Given the description of an element on the screen output the (x, y) to click on. 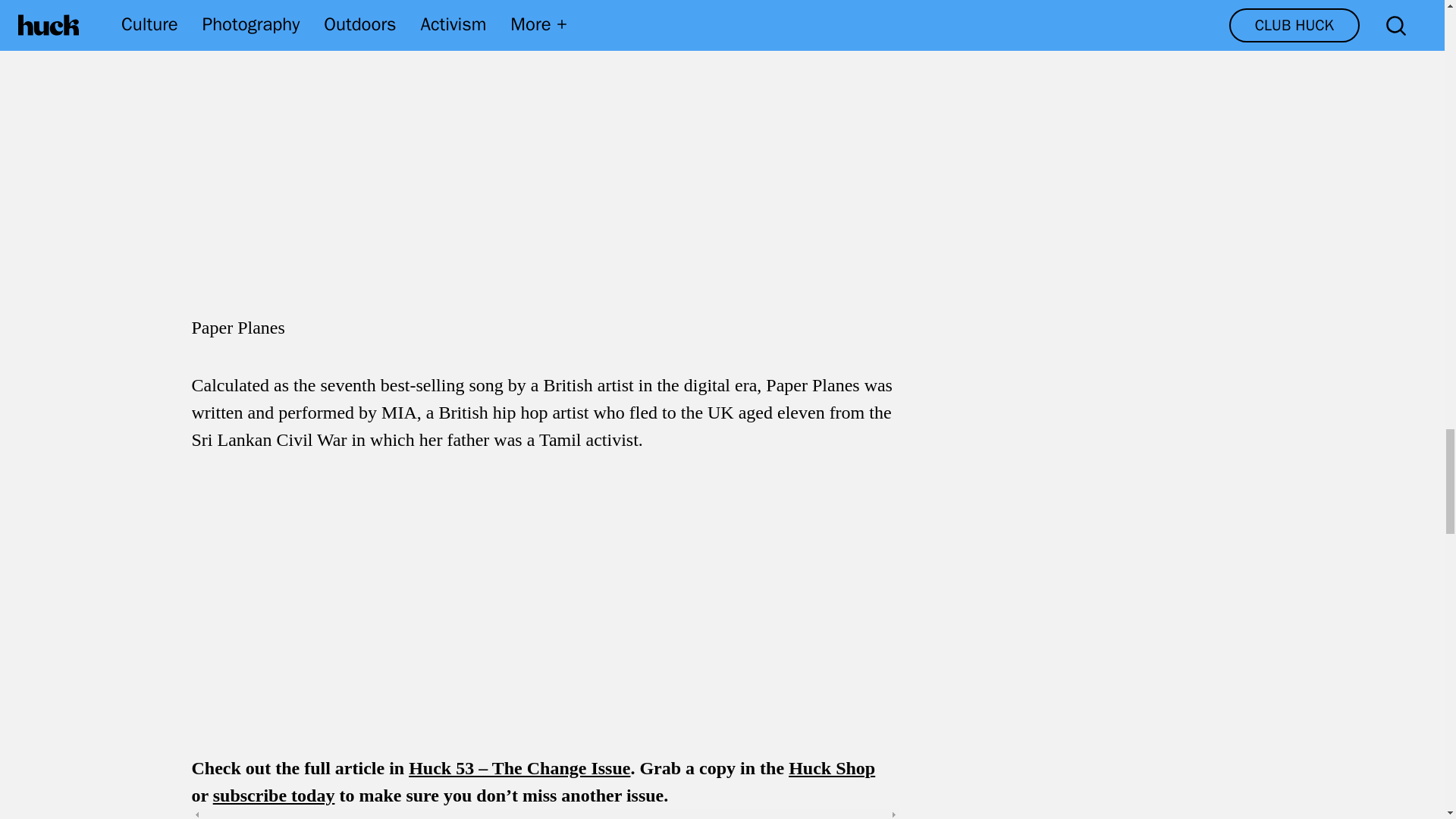
subscribe today (273, 795)
Huck Shop (832, 768)
